Given the description of an element on the screen output the (x, y) to click on. 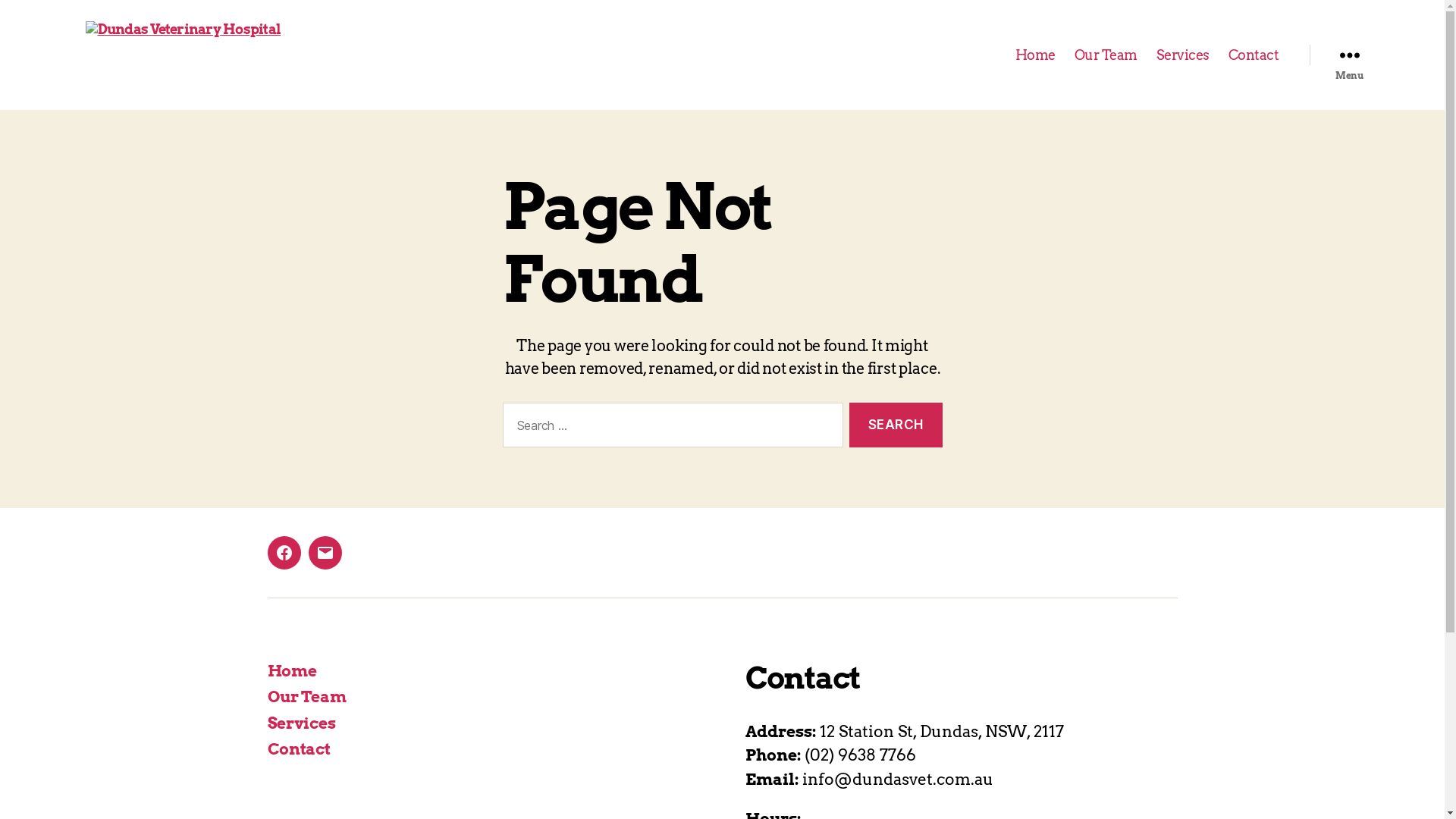
Search Element type: text (895, 424)
Our Team Element type: text (1105, 55)
Services Element type: text (1182, 55)
Facebook Element type: text (283, 552)
Email Element type: text (324, 552)
Home Element type: text (291, 670)
Our Team Element type: text (305, 696)
Contact Element type: text (297, 748)
Menu Element type: text (1348, 55)
Services Element type: text (300, 722)
Home Element type: text (1035, 55)
Contact Element type: text (1253, 55)
